Given the description of an element on the screen output the (x, y) to click on. 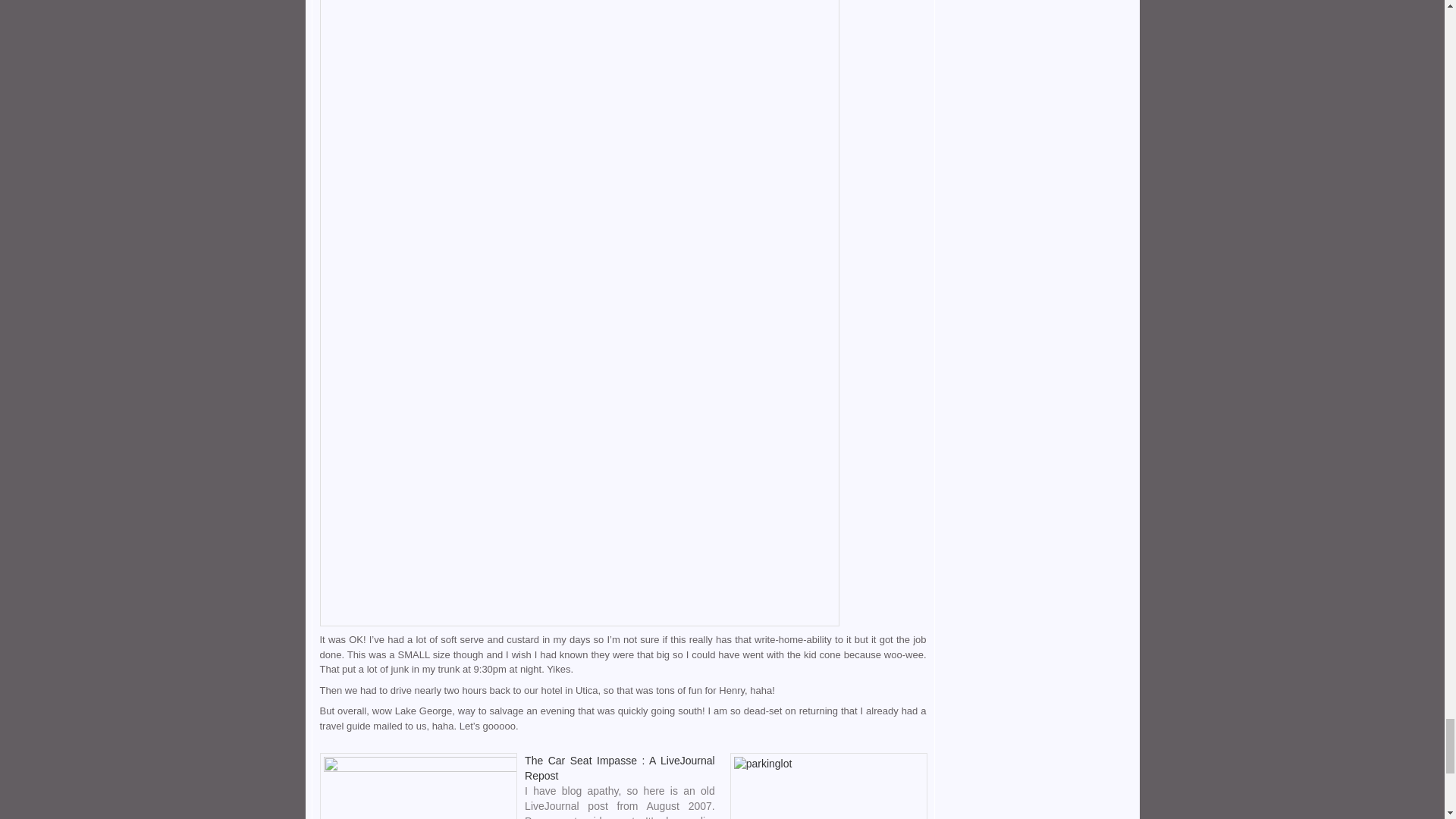
The Car Seat Impasse : A LiveJournal Repost (619, 768)
